Given the description of an element on the screen output the (x, y) to click on. 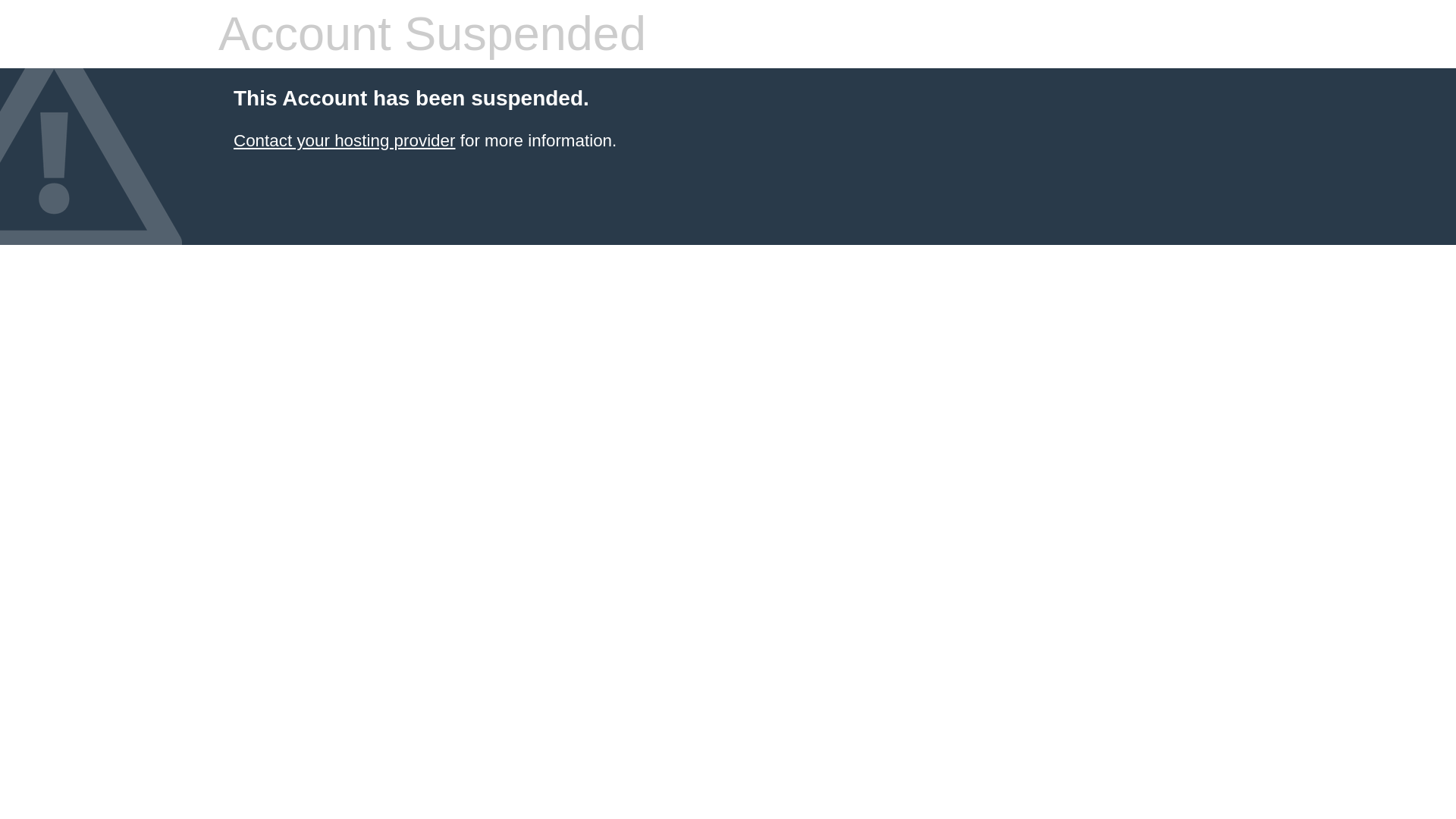
Contact your hosting provider (343, 140)
